Given the description of an element on the screen output the (x, y) to click on. 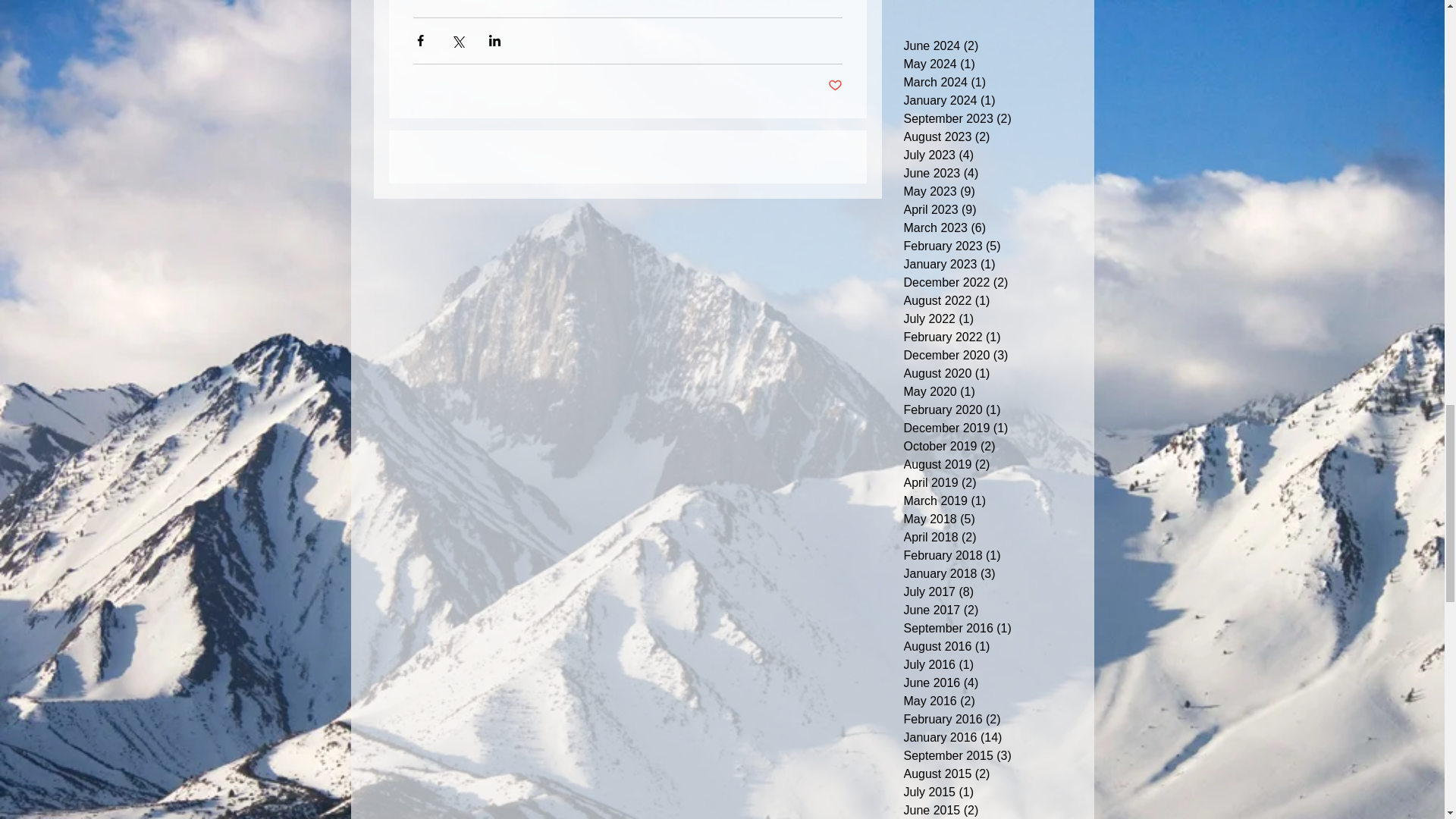
Post not marked as liked (835, 85)
